Given the description of an element on the screen output the (x, y) to click on. 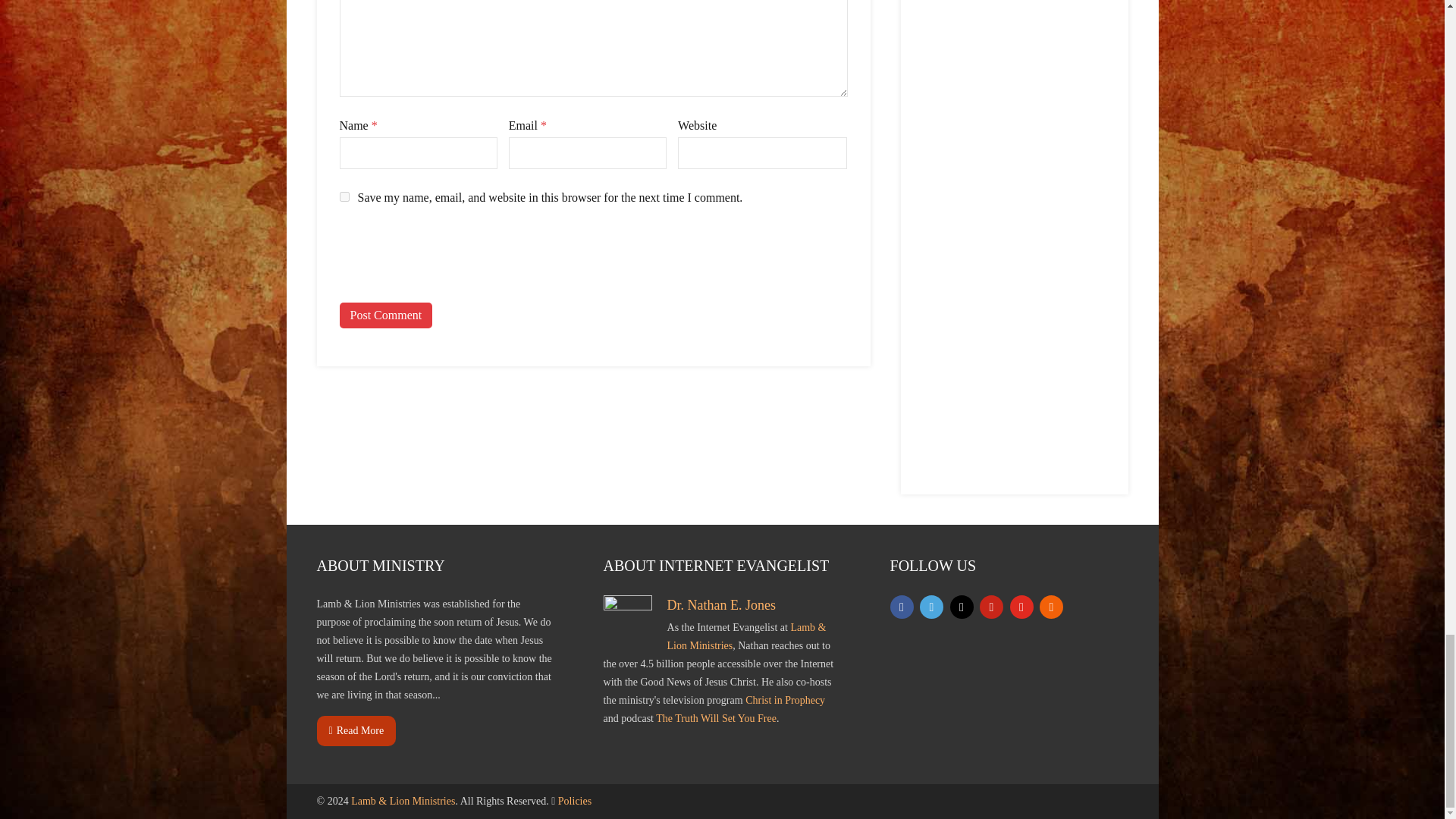
Post Comment (385, 315)
yes (344, 196)
